Given the description of an element on the screen output the (x, y) to click on. 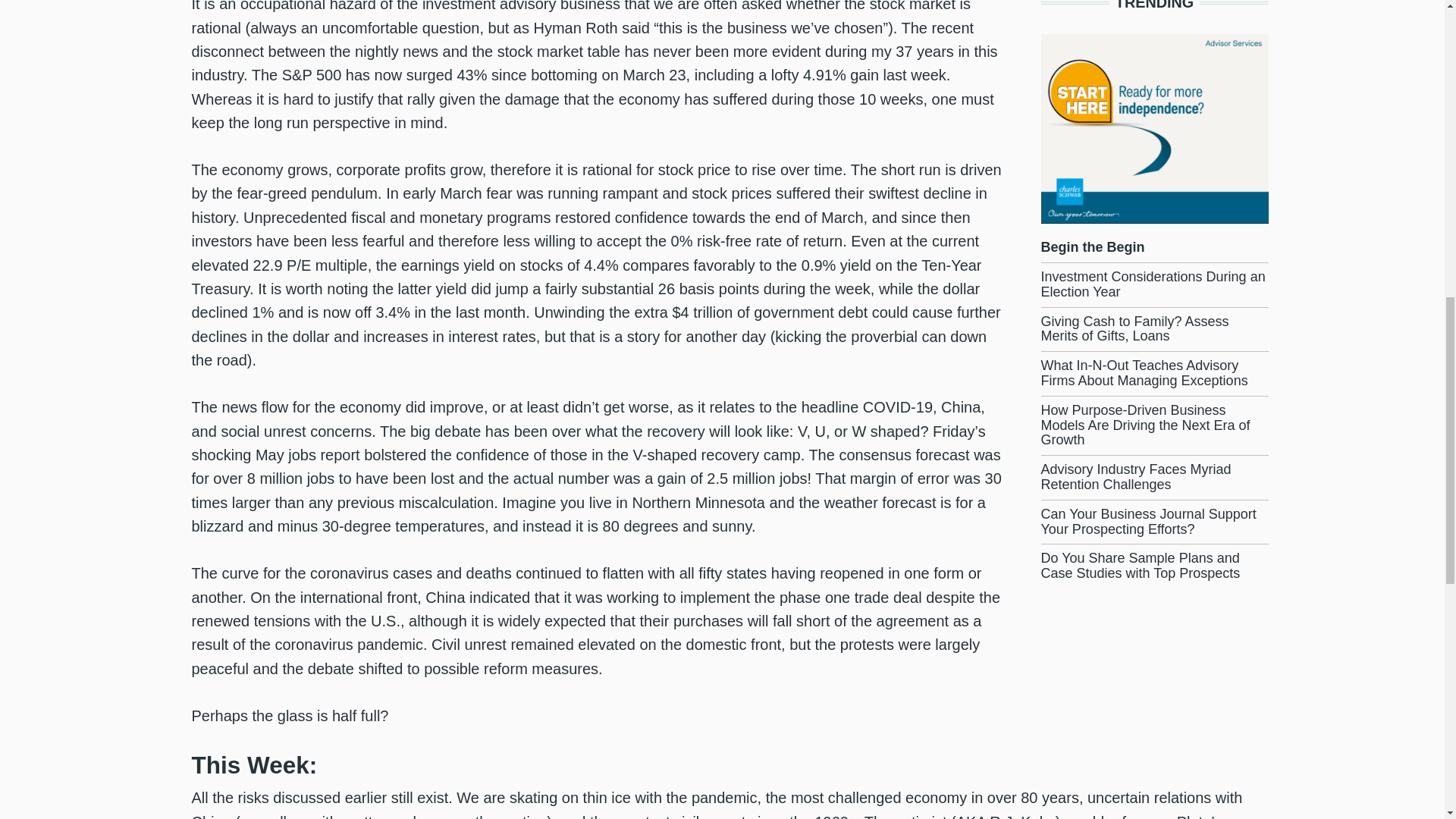
Investment Considerations During an Election Year (1153, 284)
Begin the Begin (1092, 246)
Giving Cash to Family? Assess Merits of Gifts, Loans (1134, 328)
